Given the description of an element on the screen output the (x, y) to click on. 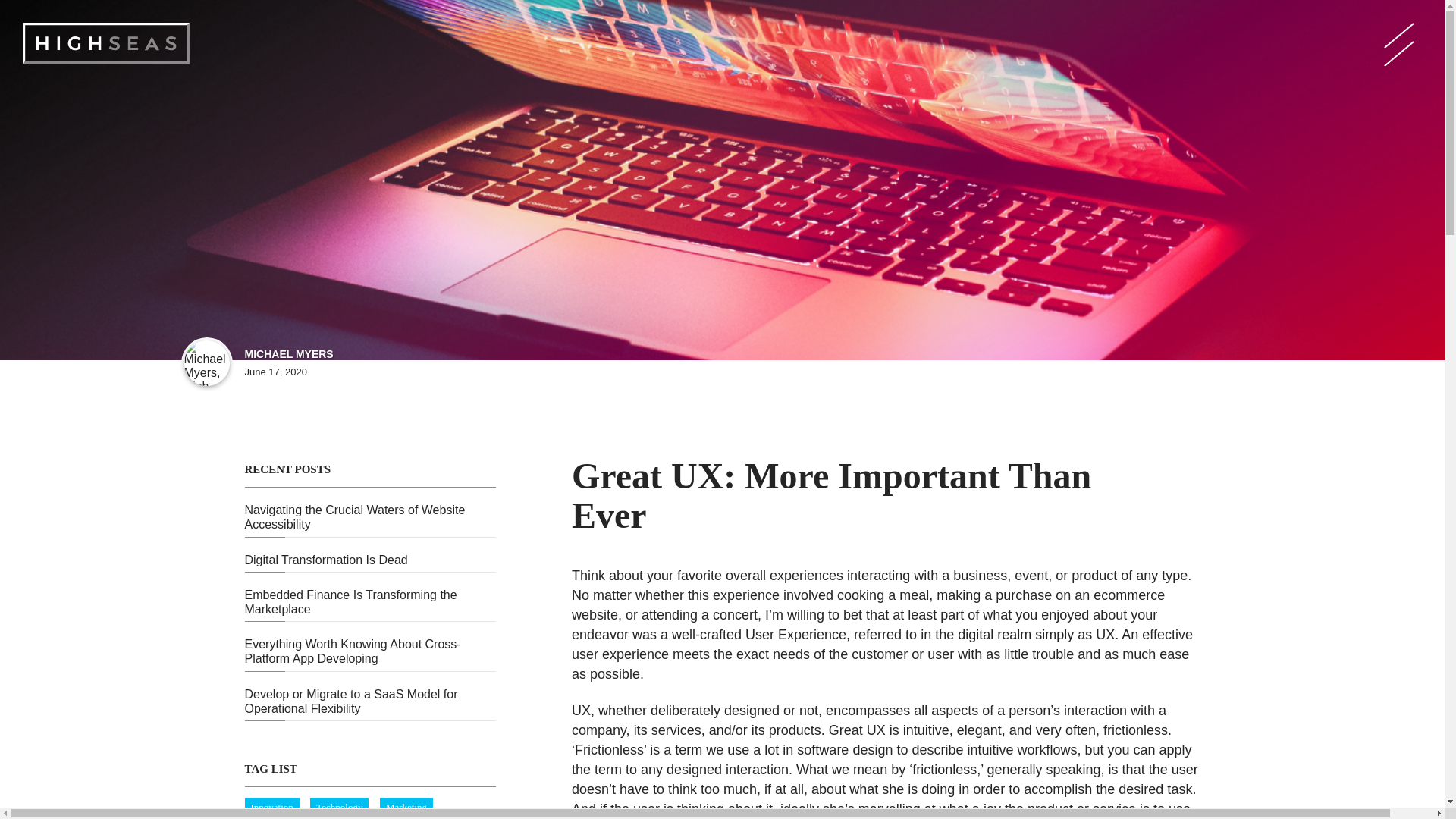
Technology (345, 806)
Marketing (410, 806)
Innovation (277, 806)
Digital Transformation Is Dead (369, 554)
Navigating the Crucial Waters of Website Accessibility (369, 511)
Everything Worth Knowing About Cross-Platform App Developing (369, 645)
Embedded Finance Is Transforming the Marketplace (369, 596)
